Given the description of an element on the screen output the (x, y) to click on. 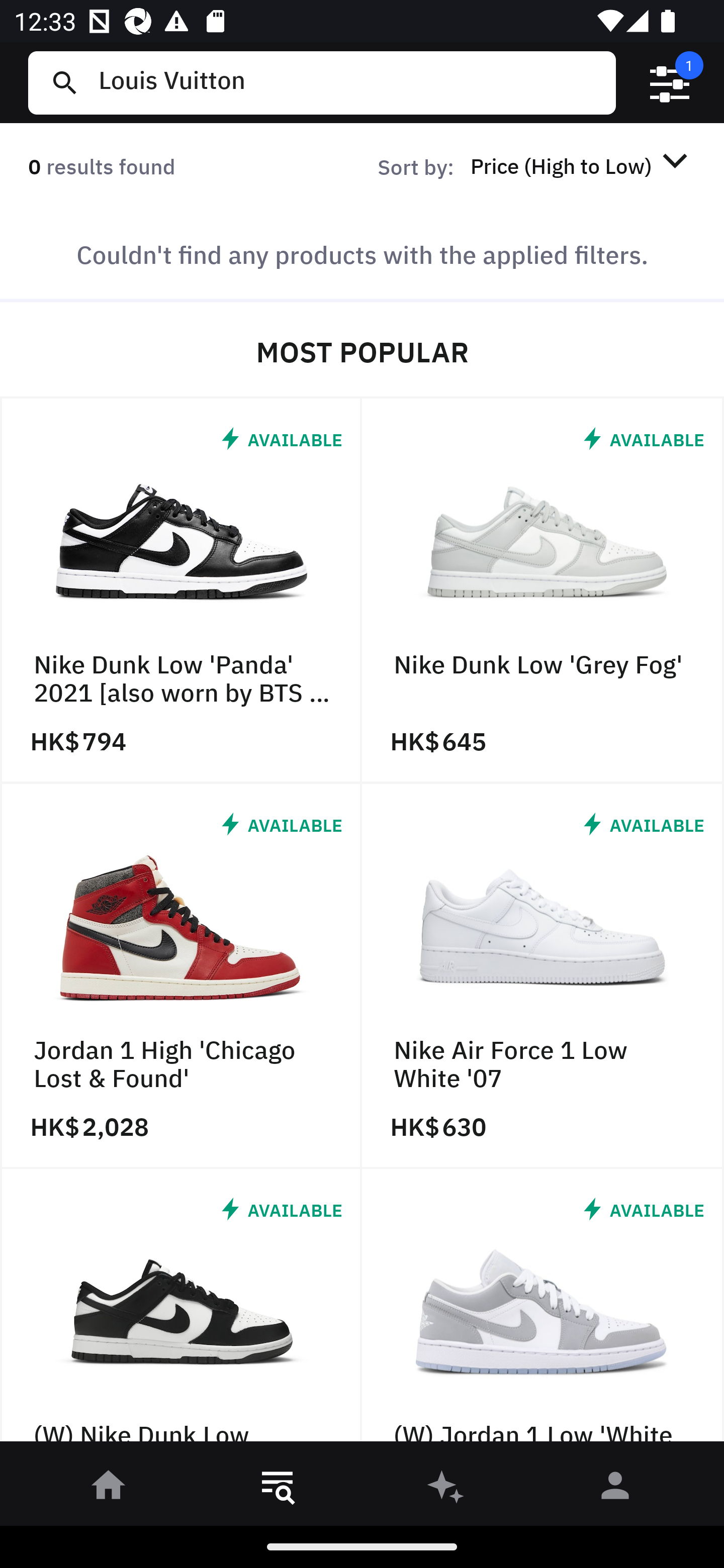
Louis Vuitton (349, 82)
 (669, 82)
Price (High to Low)  (582, 165)
 AVAILABLE Nike Dunk Low 'Grey Fog' HK$ 645 (543, 591)
 AVAILABLE Nike Air Force 1 Low White '07 HK$ 630 (543, 976)
 AVAILABLE (W) Nike Dunk Low 'Panda' 2021 (181, 1309)
 AVAILABLE (W) Jordan 1 Low 'White Wolf Grey' (543, 1309)
󰋜 (108, 1488)
󱎸 (277, 1488)
󰫢 (446, 1488)
󰀄 (615, 1488)
